Given the description of an element on the screen output the (x, y) to click on. 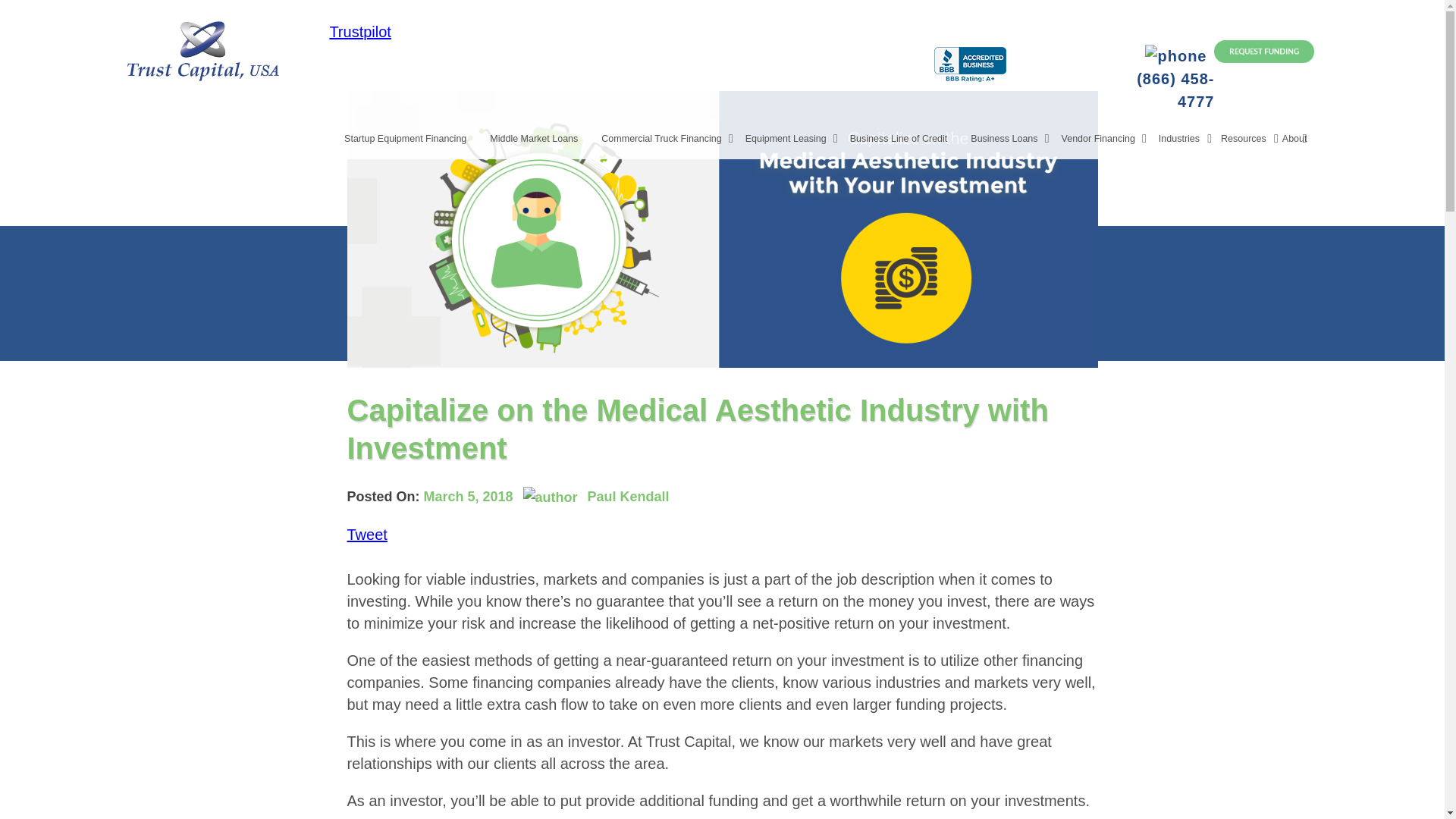
TRUST CAPITAL LOGO (203, 48)
Equipment Leasing (792, 142)
Industries (1184, 142)
Vendor Financing (1104, 142)
Startup Equipment Financing (411, 142)
Business Line of Credit (904, 142)
Commercial Truck Financing (667, 142)
Business Loans (1010, 142)
Resources (1244, 142)
Middle Market Loans (540, 142)
Trustpilot (360, 31)
